Given the description of an element on the screen output the (x, y) to click on. 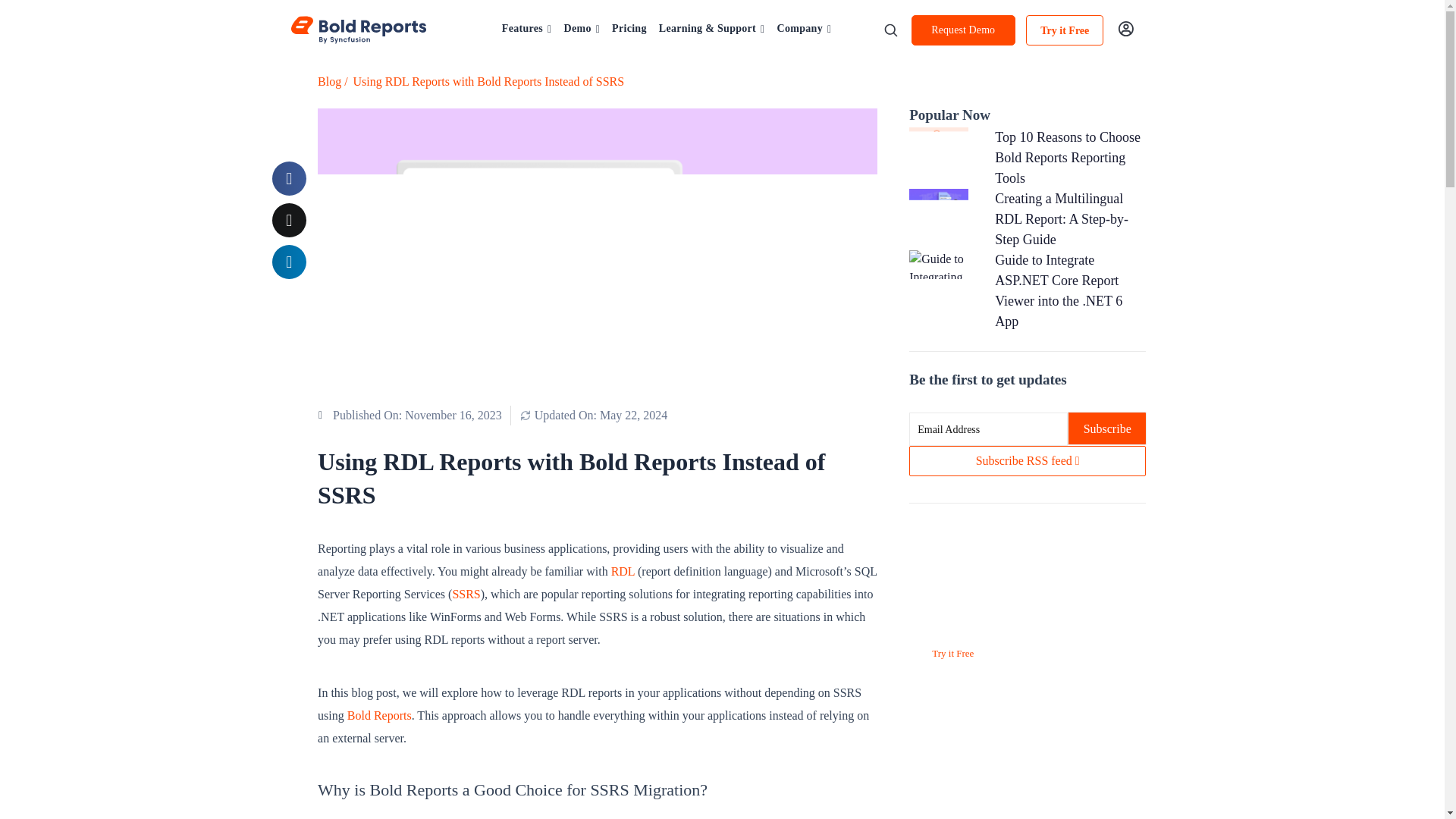
Click to copy Rss-feed Link (1026, 460)
Subscribe (1107, 428)
